Given the description of an element on the screen output the (x, y) to click on. 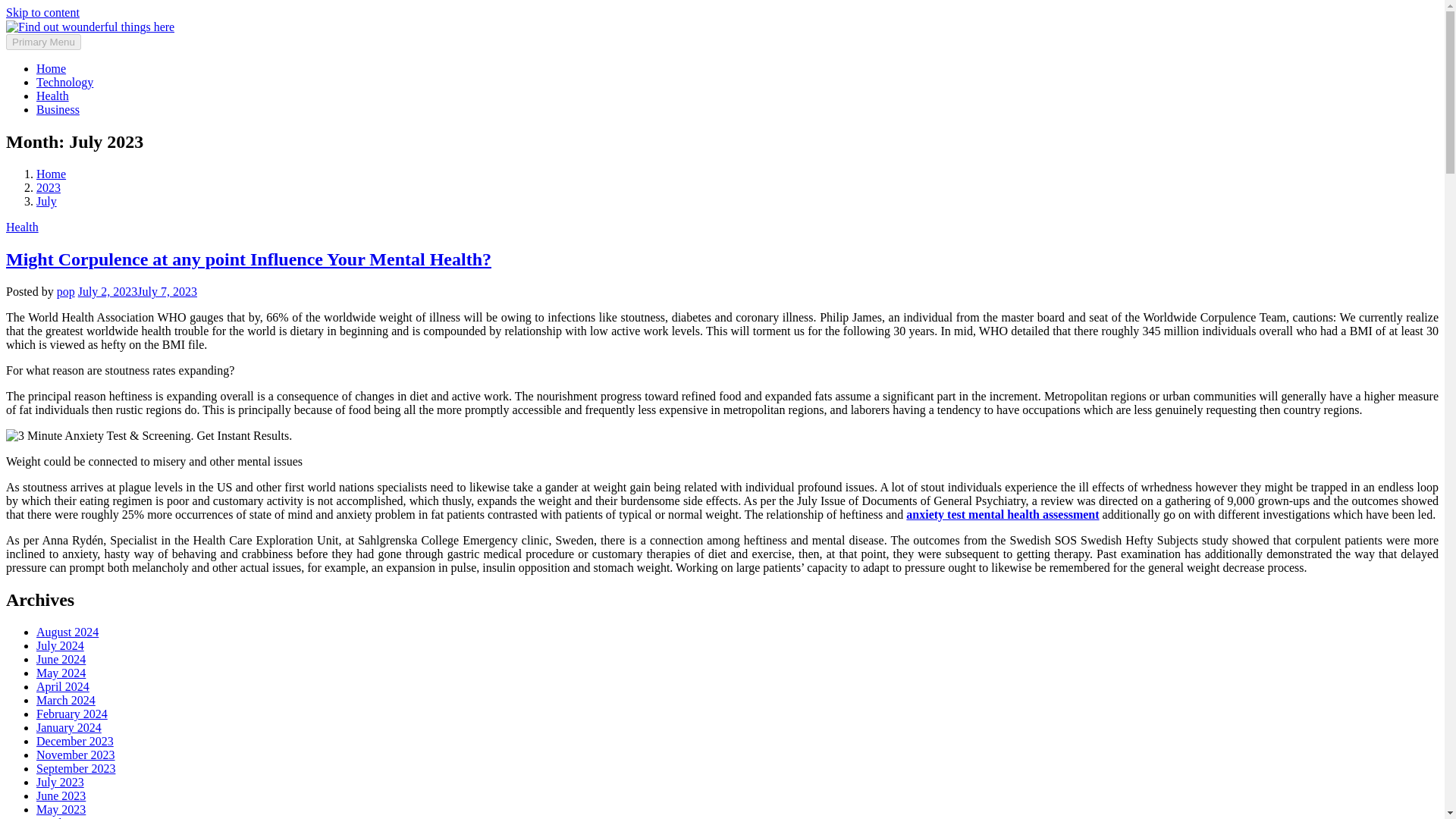
April 2024 (62, 686)
Health (52, 95)
June 2023 (60, 795)
anxiety test mental health assessment (1002, 513)
September 2023 (75, 768)
Home (50, 68)
Home (50, 173)
August 2024 (67, 631)
July (46, 201)
January 2024 (68, 727)
